Given the description of an element on the screen output the (x, y) to click on. 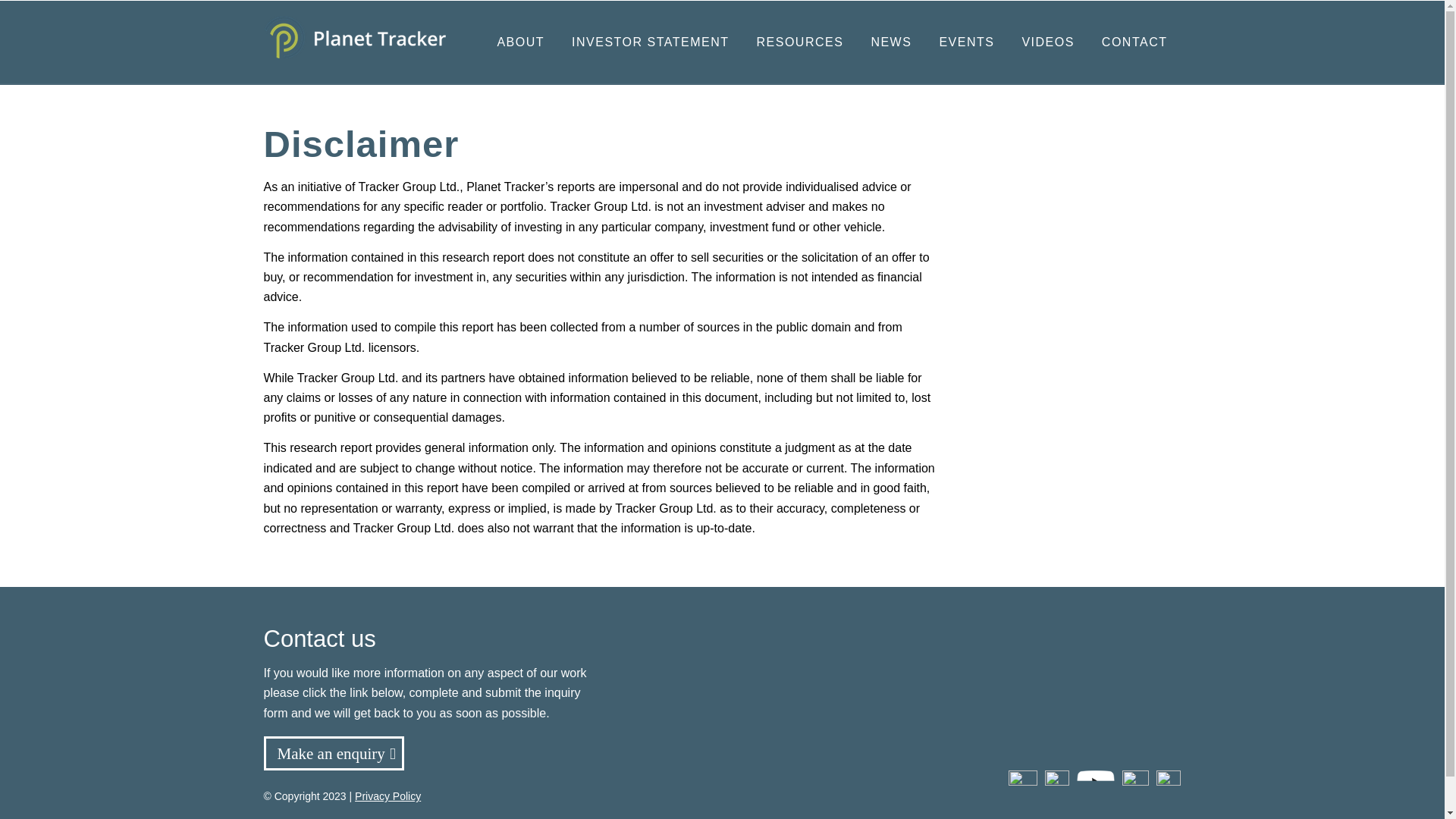
ABOUT (520, 42)
EVENTS (965, 42)
INVESTOR STATEMENT (649, 42)
CONTACT (1133, 42)
Planet Tracker logo (354, 37)
Privacy Policy (387, 796)
Make an enquiry (333, 753)
VIDEOS (1047, 42)
Planet Tracker logo (354, 42)
RESOURCES (799, 42)
